Given the description of an element on the screen output the (x, y) to click on. 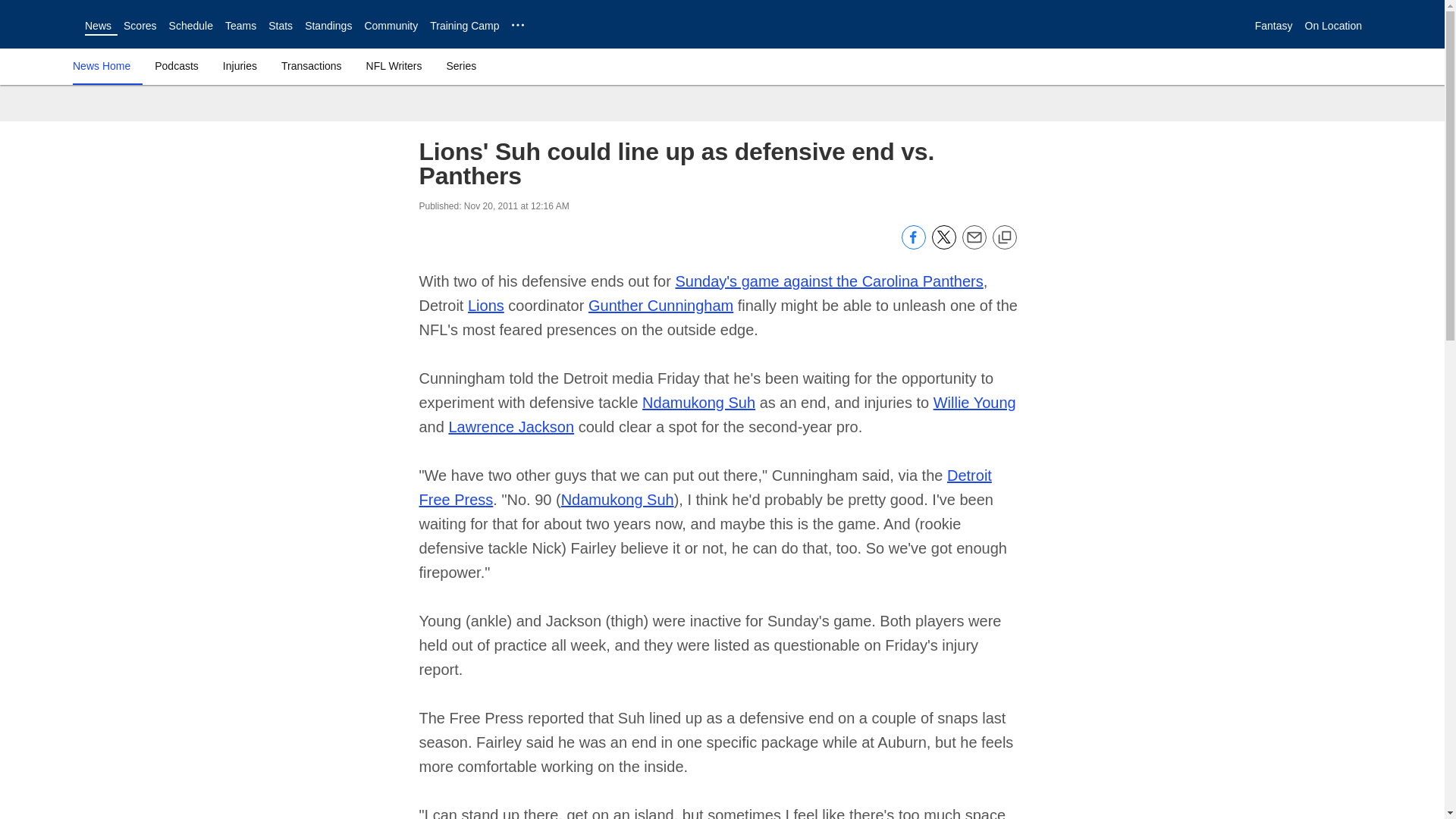
Scores (140, 25)
Schedule (190, 25)
News (98, 25)
Teams (240, 25)
Scores (140, 25)
News (98, 25)
Teams (240, 25)
Stats (279, 25)
Link to NFL homepage (42, 23)
Schedule (190, 25)
